Given the description of an element on the screen output the (x, y) to click on. 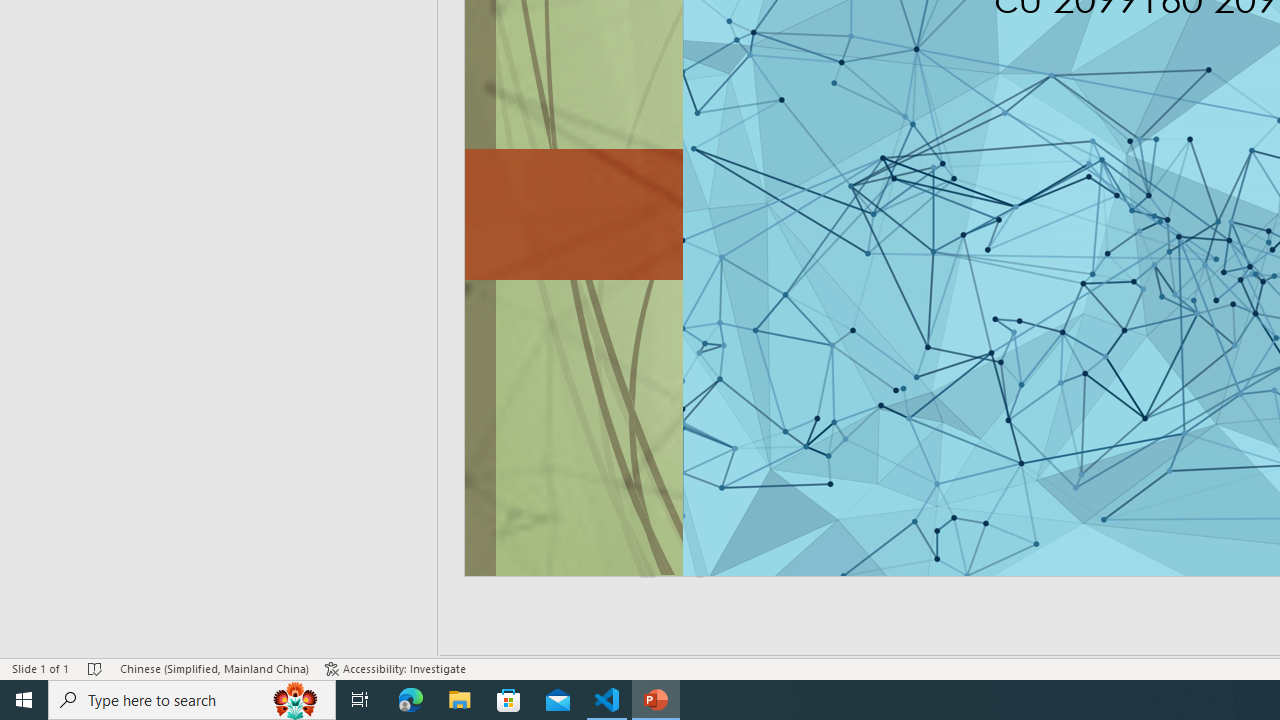
Accessibility Checker Accessibility: Investigate (395, 668)
